Given the description of an element on the screen output the (x, y) to click on. 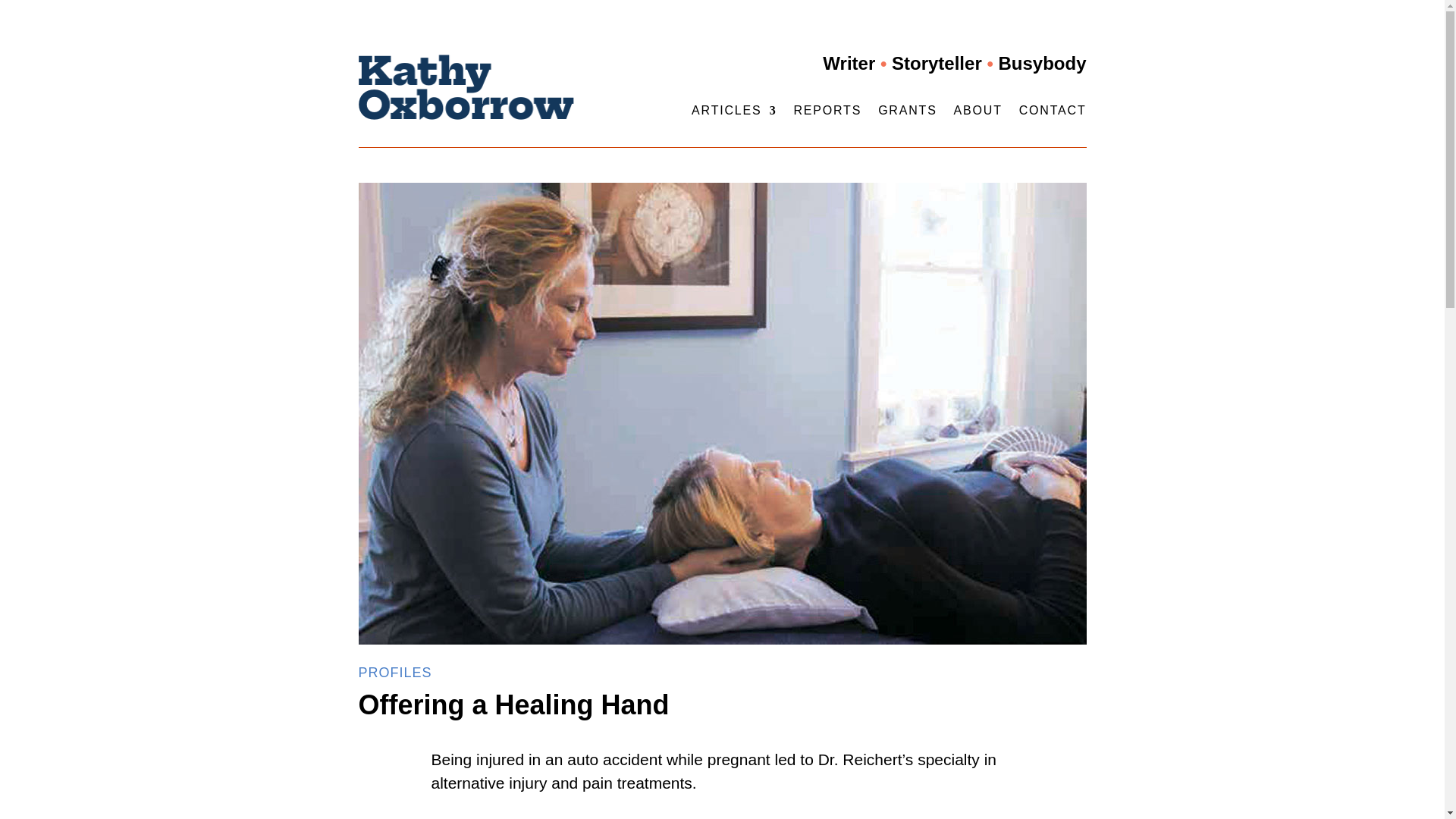
GRANTS (906, 113)
CONTACT (1052, 113)
ARTICLES (733, 113)
REPORTS (827, 113)
ABOUT (978, 113)
PROFILES (394, 672)
